Given the description of an element on the screen output the (x, y) to click on. 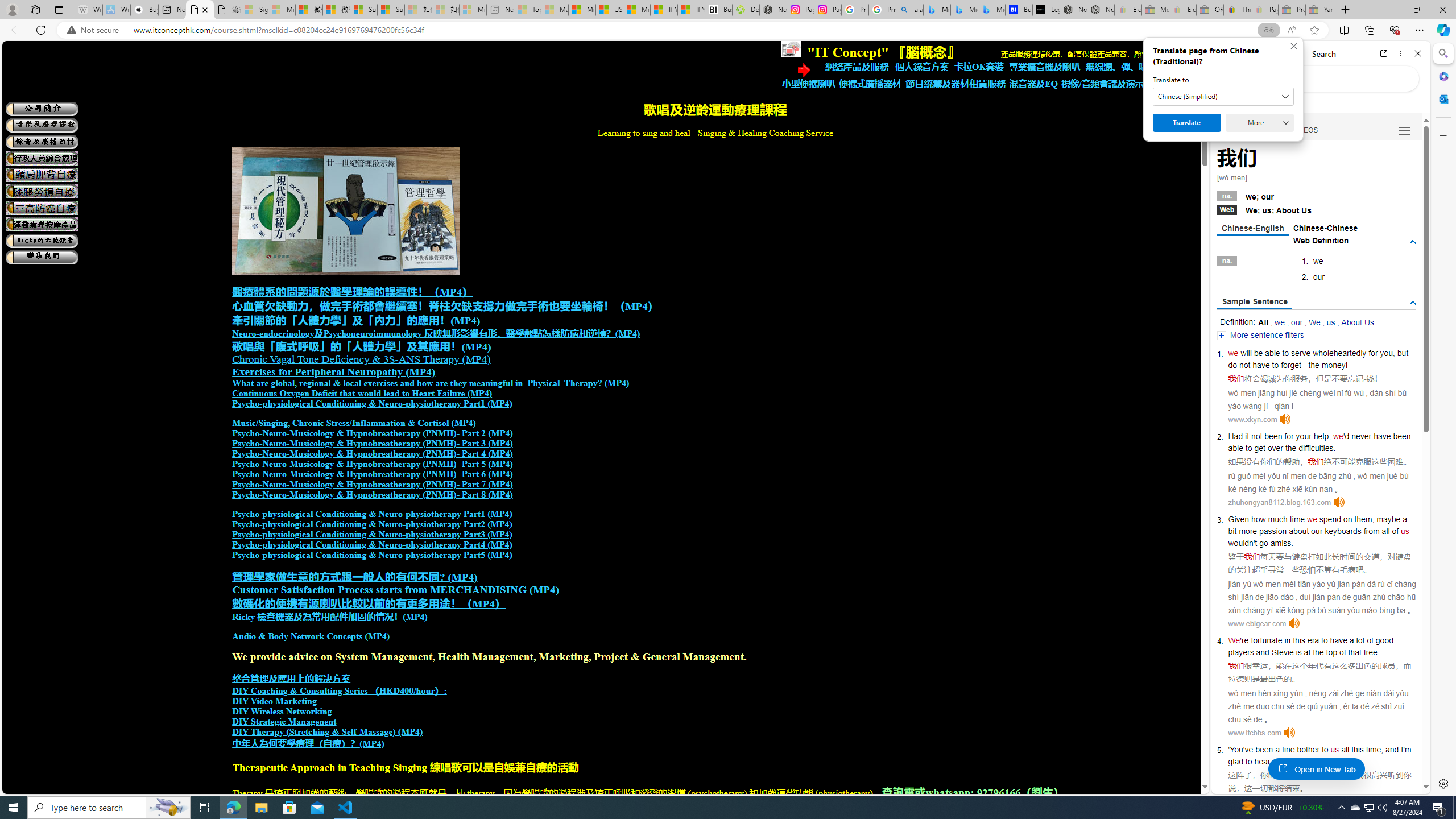
Chinese-English (1252, 228)
. (1330, 760)
AutomationID: tgdef_sen (1412, 302)
Collections (1369, 29)
from (1371, 530)
About (1287, 209)
Microsoft account | Account Checkup - Sleeping (473, 9)
